Given the description of an element on the screen output the (x, y) to click on. 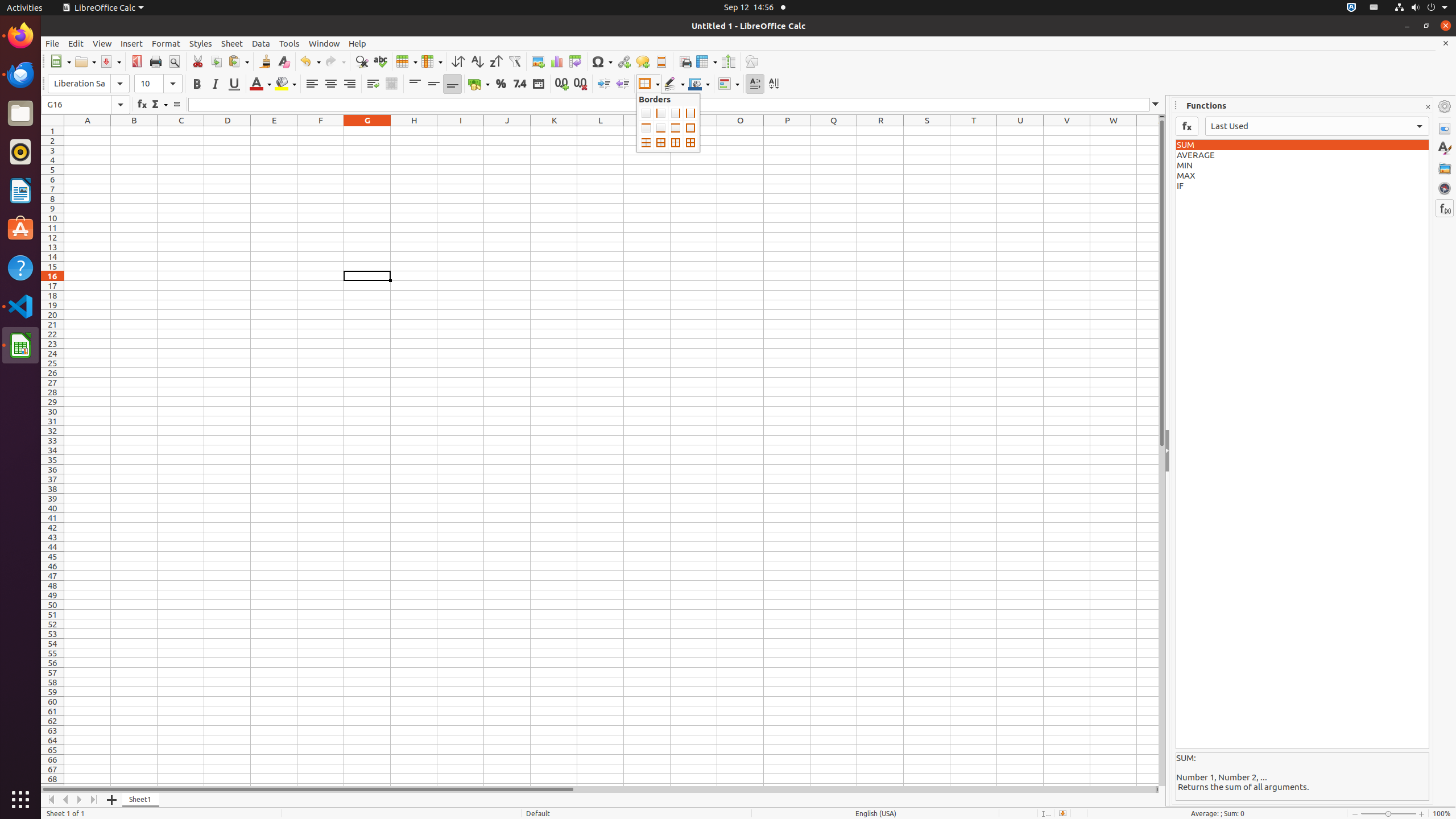
LibreOffice Writer Element type: push-button (20, 190)
Print Element type: push-button (155, 61)
G1 Element type: table-cell (367, 130)
Visual Studio Code Element type: push-button (20, 306)
C1 Element type: table-cell (180, 130)
